Given the description of an element on the screen output the (x, y) to click on. 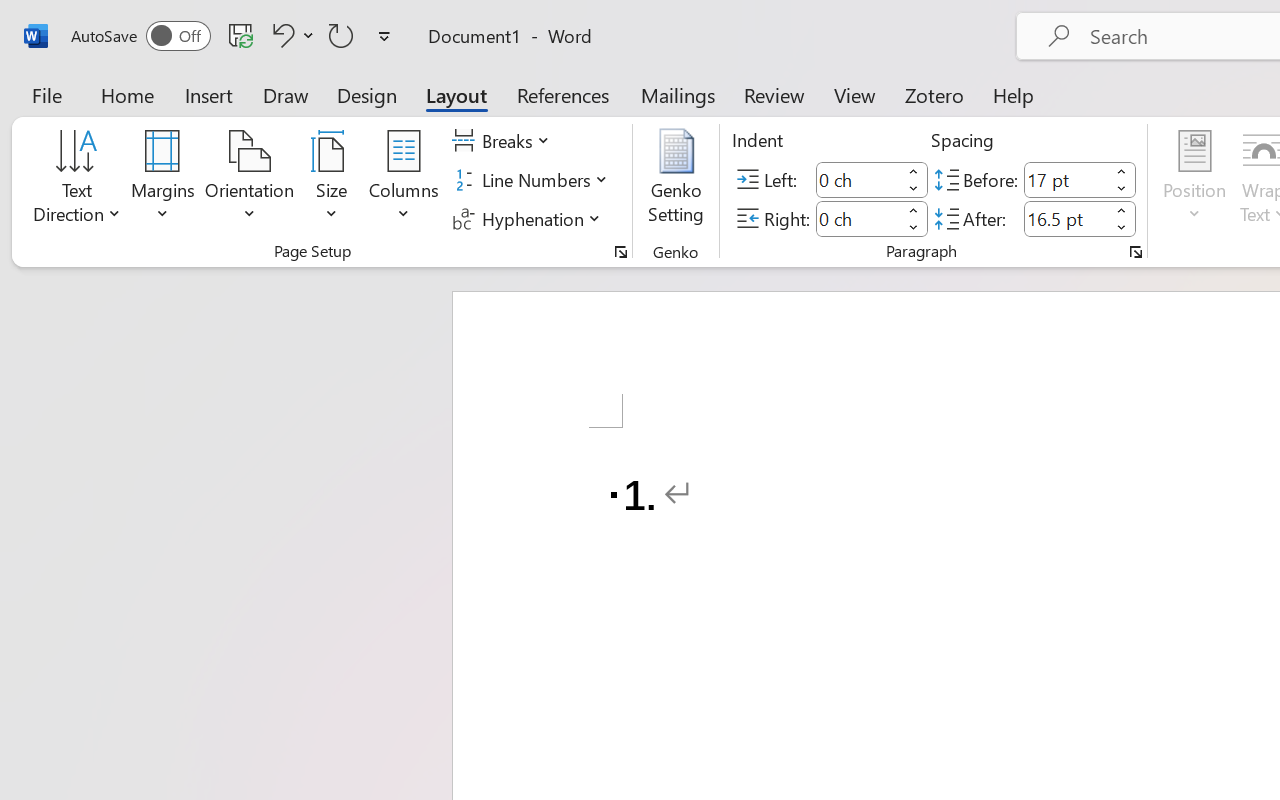
Position (1194, 179)
Hyphenation (529, 218)
Indent Left (858, 179)
Columns (404, 179)
Undo Number Default (280, 35)
